Given the description of an element on the screen output the (x, y) to click on. 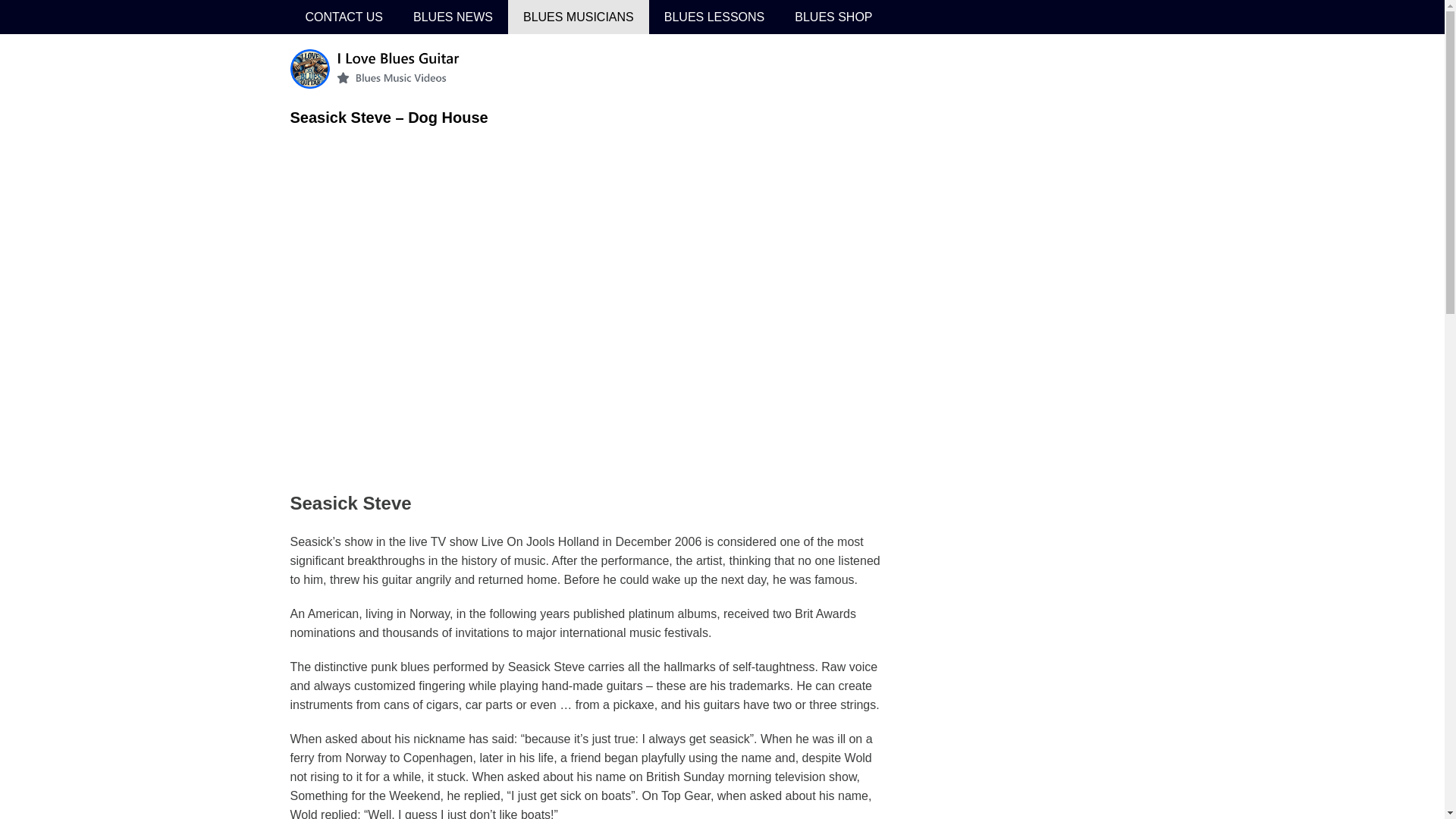
BLUES MUSICIANS (578, 17)
BLUES SHOP (832, 17)
CONTACT US (343, 17)
BLUES LESSONS (714, 17)
BLUES NEWS (452, 17)
